Given the description of an element on the screen output the (x, y) to click on. 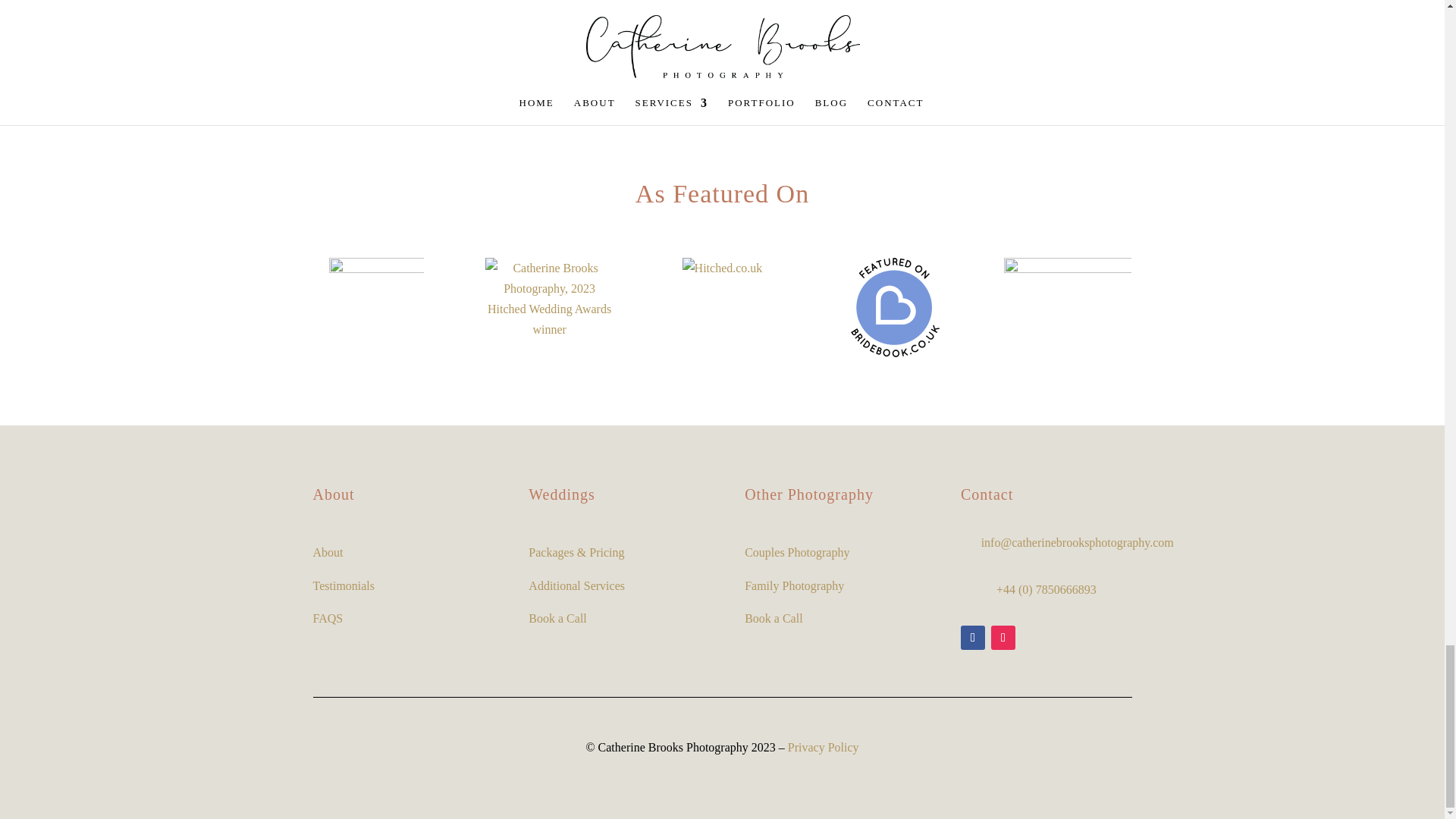
Hitched.co.uk (722, 267)
Follow on Instagram (1002, 637)
Follow on Facebook (972, 637)
Wedding Photographer The Wedding Business Club (1067, 320)
2024 Wedisson (376, 286)
